Given the description of an element on the screen output the (x, y) to click on. 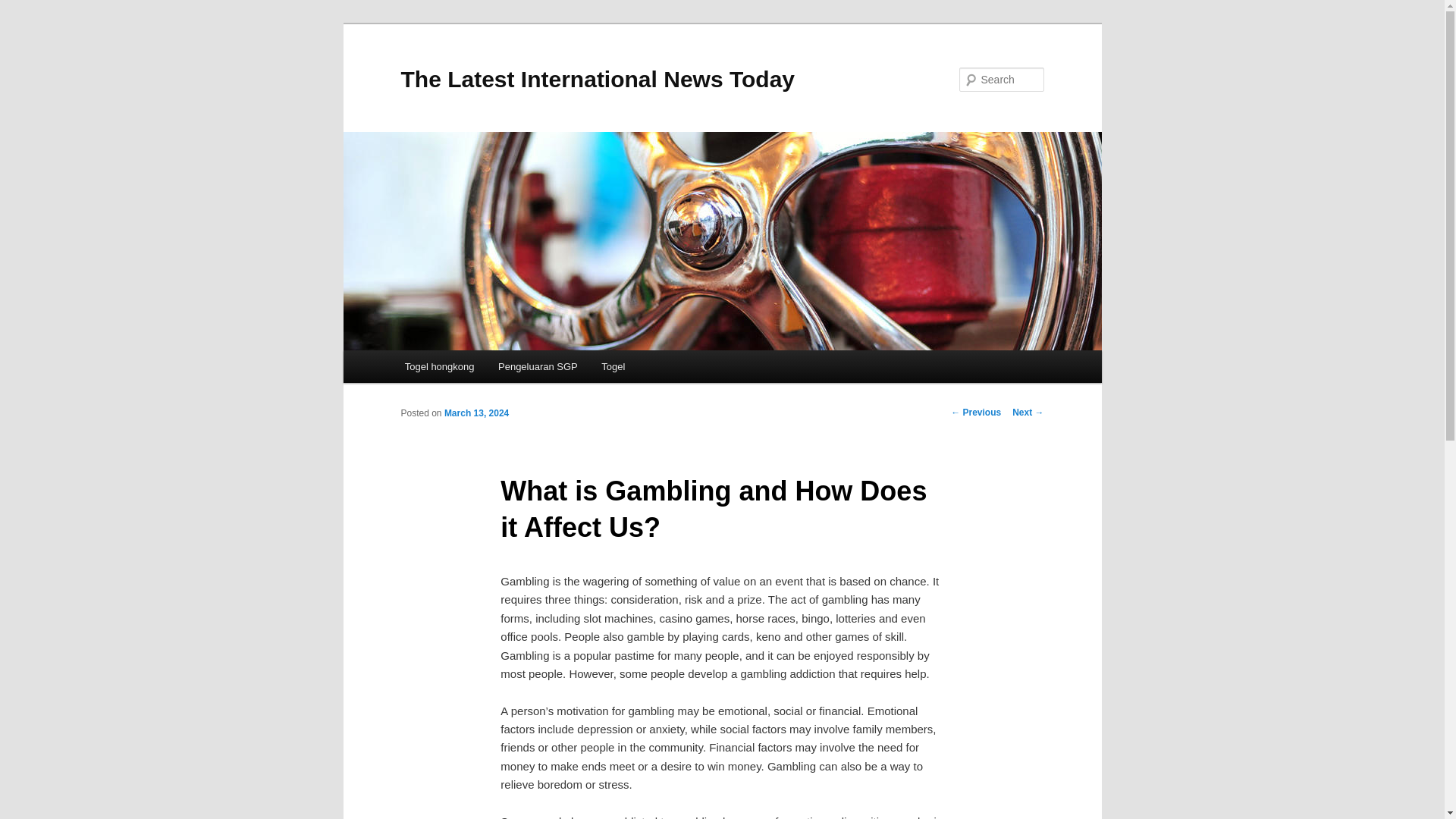
Pengeluaran SGP (537, 366)
10:04 pm (476, 412)
March 13, 2024 (476, 412)
Search (24, 8)
The Latest International News Today (597, 78)
Togel hongkong (439, 366)
Togel (613, 366)
